Given the description of an element on the screen output the (x, y) to click on. 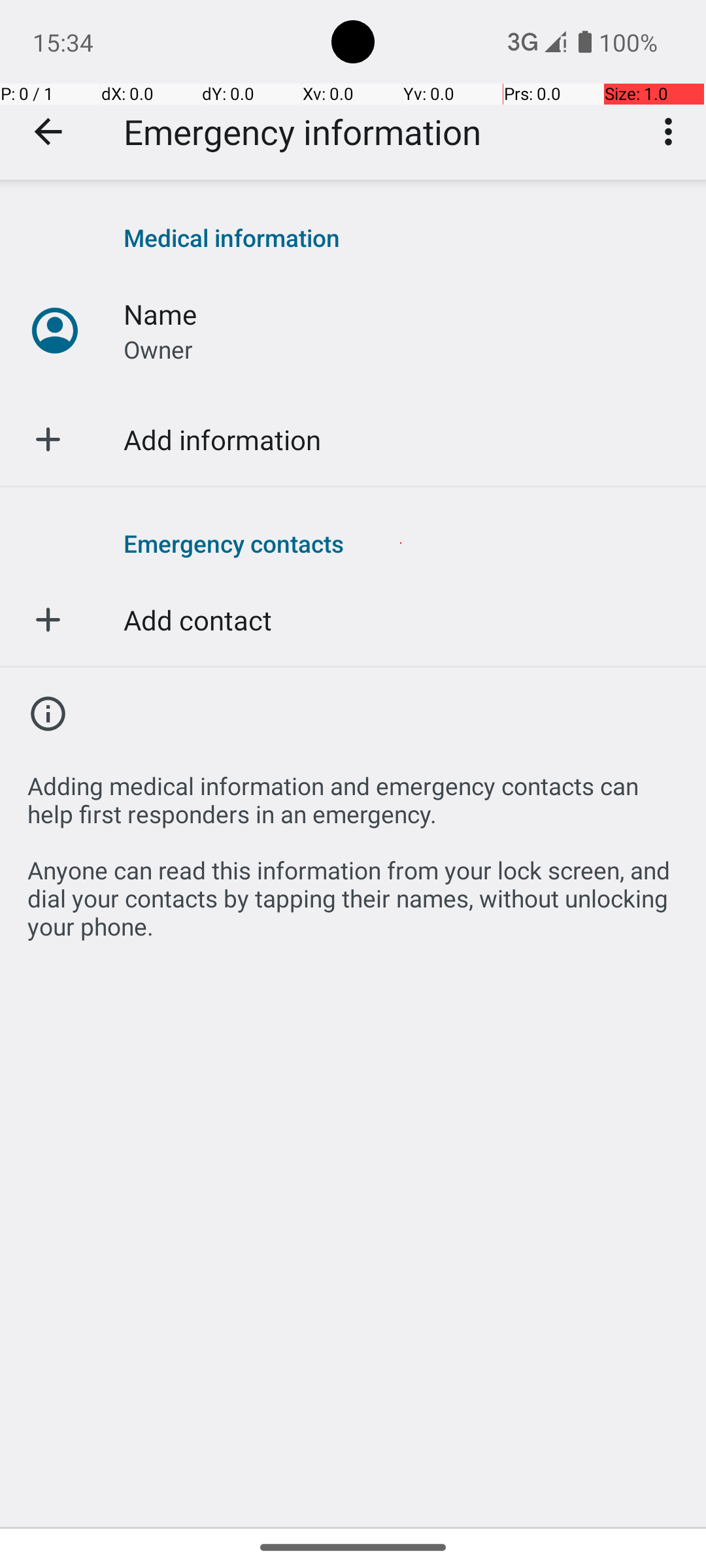
Emergency information Element type: android.widget.TextView (302, 131)
Medical information Element type: android.widget.TextView (400, 237)
Owner Element type: android.widget.TextView (157, 348)
Add information Element type: android.widget.TextView (221, 438)
Emergency contacts Element type: android.widget.TextView (400, 542)
Add contact Element type: android.widget.TextView (197, 619)
Adding medical information and emergency contacts can help first responders in an emergency.

Anyone can read this information from your lock screen, and dial your contacts by tapping their names, without unlocking your phone. Element type: android.widget.TextView (352, 848)
